Given the description of an element on the screen output the (x, y) to click on. 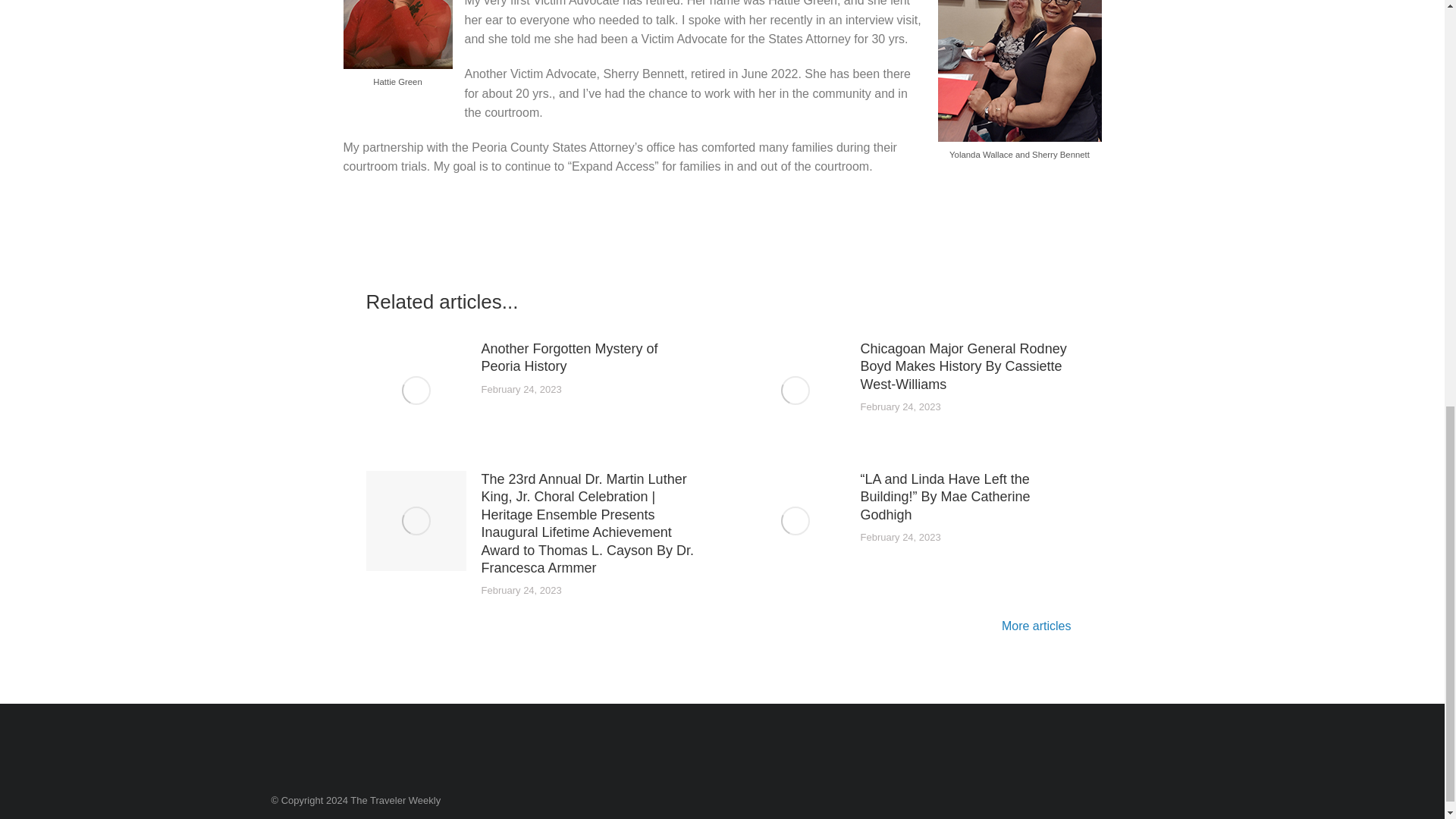
Another Forgotten Mystery of Peoria History (589, 357)
11:18 pm (900, 407)
Another Forgotten Mystery of Peoria History (589, 357)
February 24, 2023 (900, 537)
February 24, 2023 (520, 590)
11:12 pm (520, 590)
11:11 pm (900, 537)
February 24, 2023 (520, 390)
11:21 pm (520, 390)
February 24, 2023 (900, 407)
More articles (1039, 627)
